Given the description of an element on the screen output the (x, y) to click on. 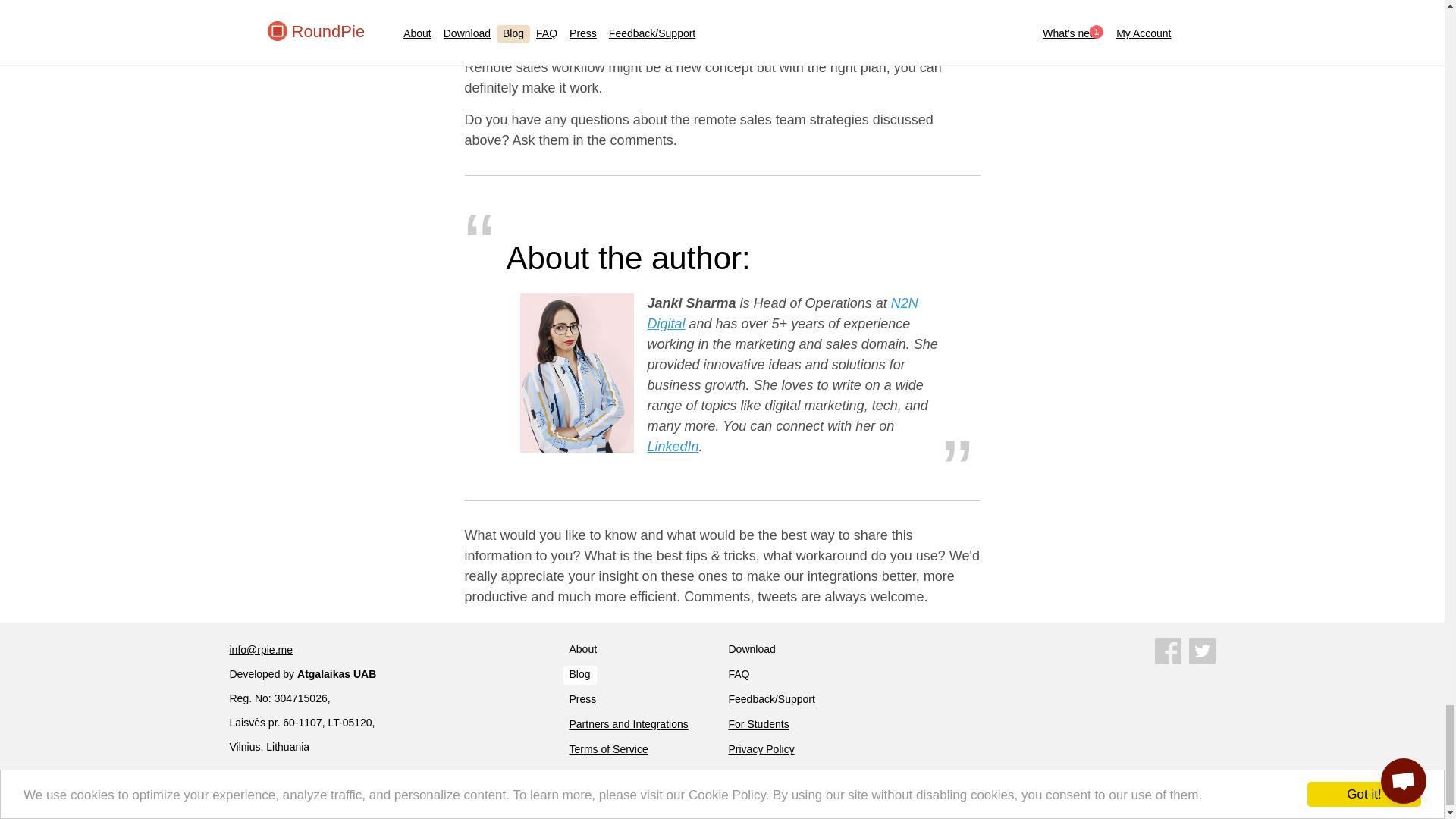
Download RoundPie for free! (751, 650)
About (582, 650)
FAQ (738, 674)
Blog. Track time and hack productivity with Tomato Technique (578, 674)
